Given the description of an element on the screen output the (x, y) to click on. 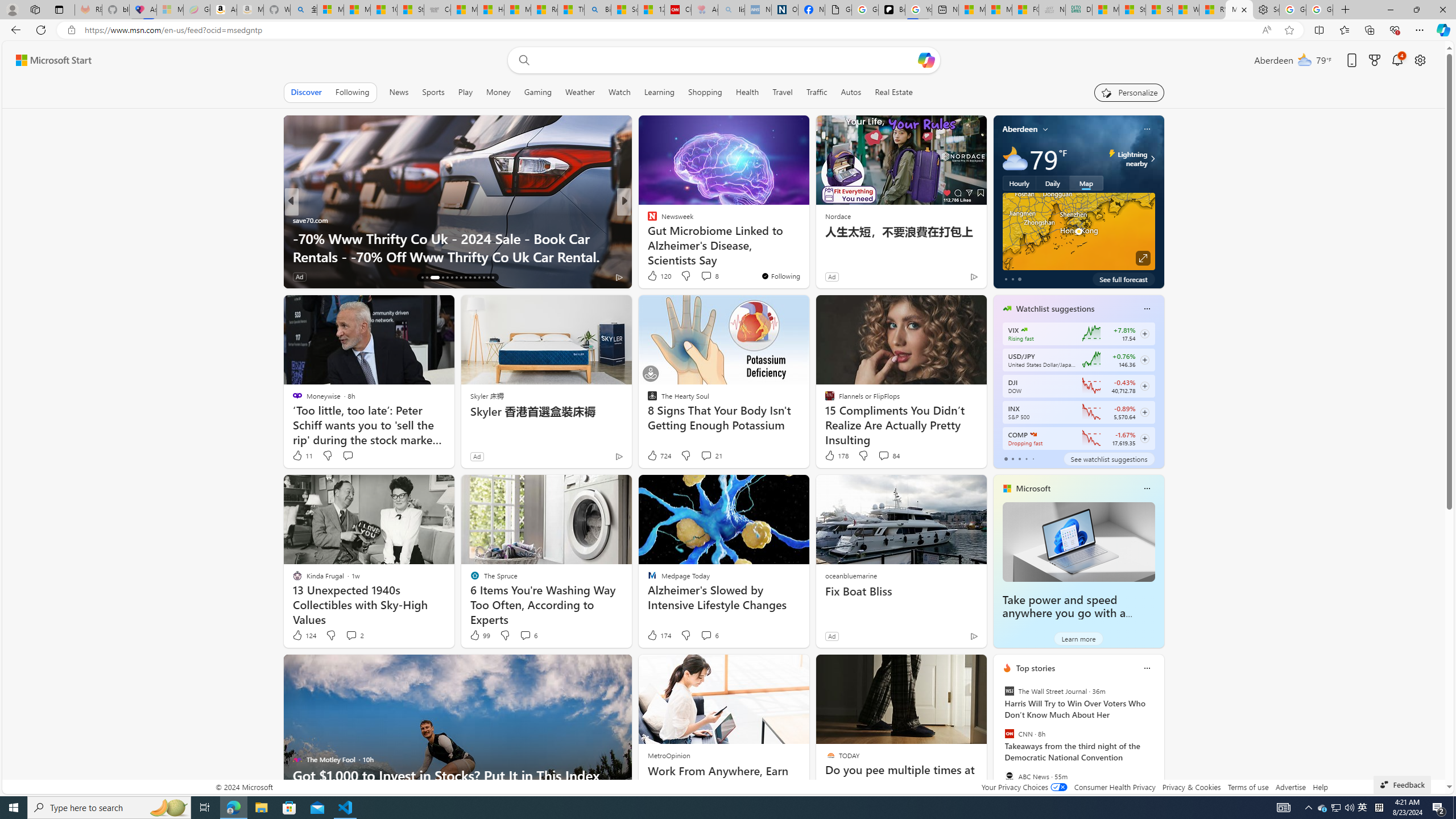
AutomationID: tab-16 (422, 277)
Work From Anywhere, Earn Money (723, 777)
View comments 66 Comment (357, 276)
Shopping (705, 92)
AutomationID: tab-18 (432, 277)
Moneywise (296, 219)
Take power and speed anywhere you go with a Windows laptop. (1077, 541)
Homes & Gardens (647, 219)
AutomationID: tab-20 (446, 277)
